Given the description of an element on the screen output the (x, y) to click on. 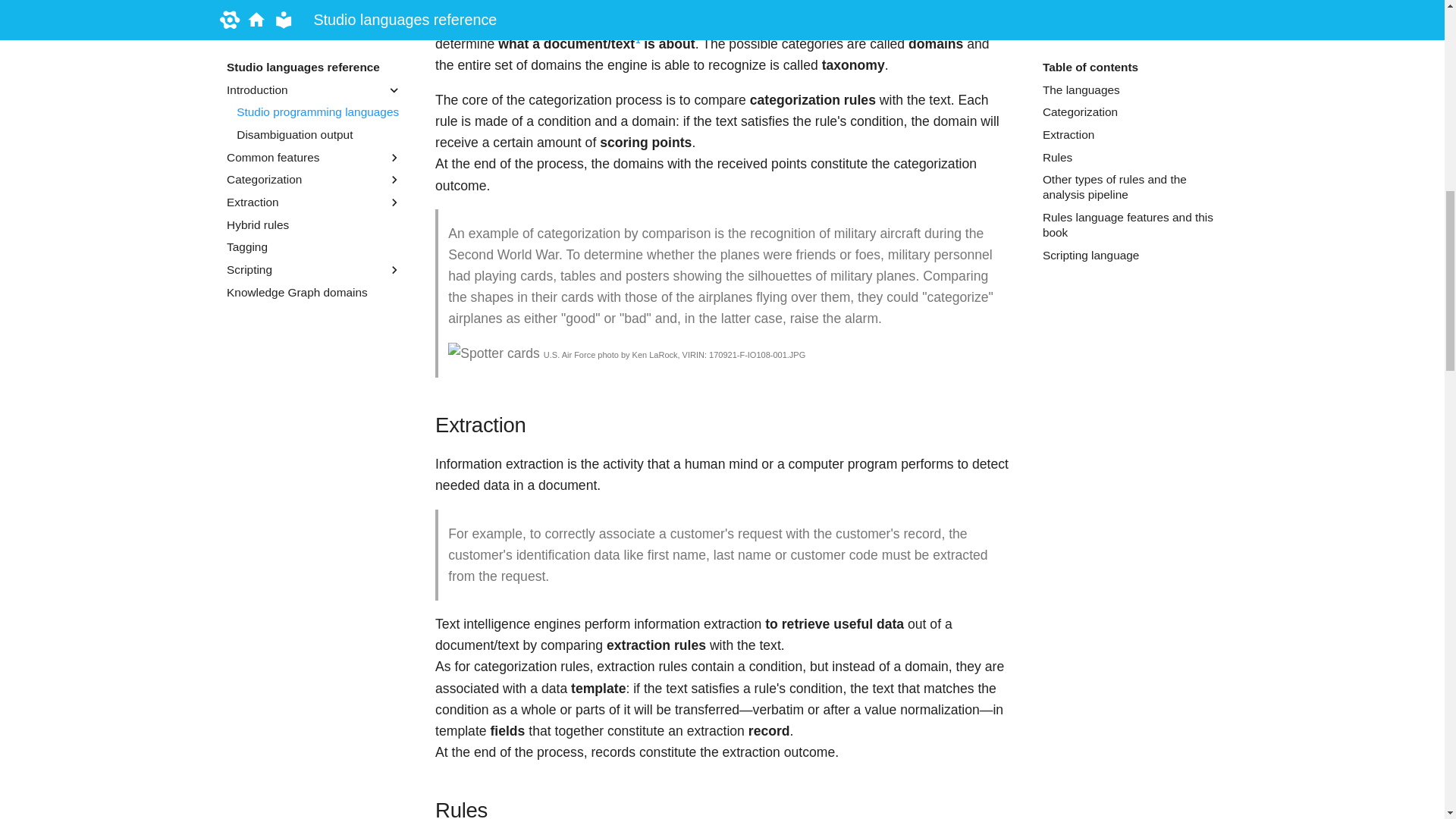
Spotter cards (494, 353)
